Given the description of an element on the screen output the (x, y) to click on. 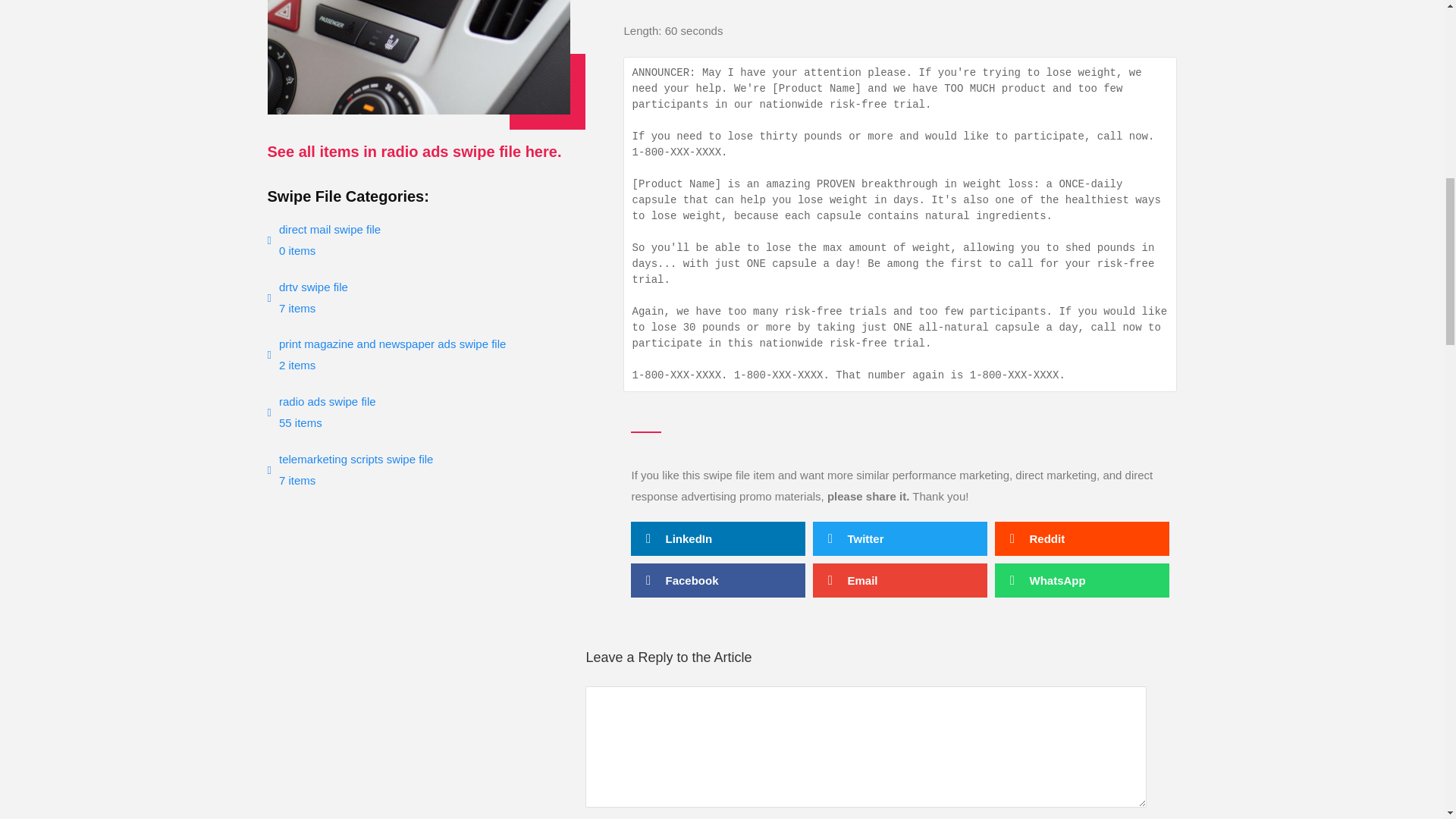
See all items in radio ads swipe file here. (418, 469)
